Given the description of an element on the screen output the (x, y) to click on. 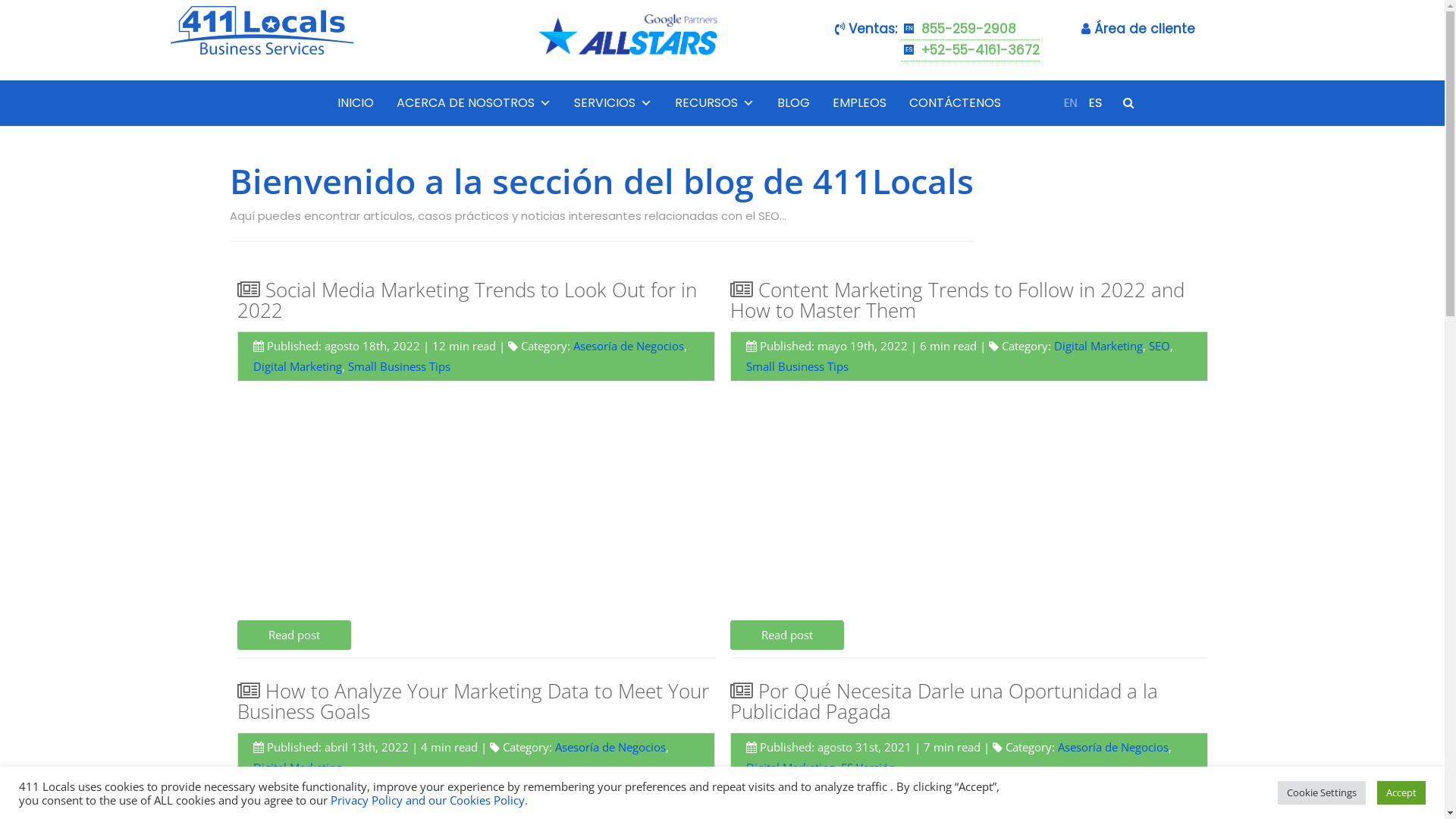
SEO Element type: text (1158, 345)
Privacy Policy and our Cookies Policy. Element type: text (428, 798)
Accept Element type: text (1401, 792)
Small Business Tips Element type: text (797, 365)
Digital Marketing Element type: text (790, 767)
Official 411Locals Logo Element type: hover (261, 29)
SERVICIOS Element type: text (612, 102)
Digital Marketing Element type: text (297, 767)
official-411locals-logo Element type: hover (261, 53)
EN (en) Element type: hover (1069, 101)
BLOG Element type: text (793, 102)
Cookie Settings Element type: text (1321, 792)
Small Business Tips Element type: text (398, 365)
EMPLEOS Element type: text (859, 102)
Digital Marketing Element type: text (1098, 345)
Read post Element type: text (293, 634)
855-259-2908 Element type: text (969, 29)
Digital Marketing Element type: text (297, 365)
INICIO Element type: text (355, 102)
Read post Element type: text (786, 634)
ES (es) Element type: hover (1094, 101)
RECURSOS Element type: text (714, 102)
ACERCA DE NOSOTROS Element type: text (473, 102)
+52-55-4161-3672 Element type: text (969, 50)
Social Media Marketing Trends to Look Out for in 2022 Element type: text (466, 299)
